Given the description of an element on the screen output the (x, y) to click on. 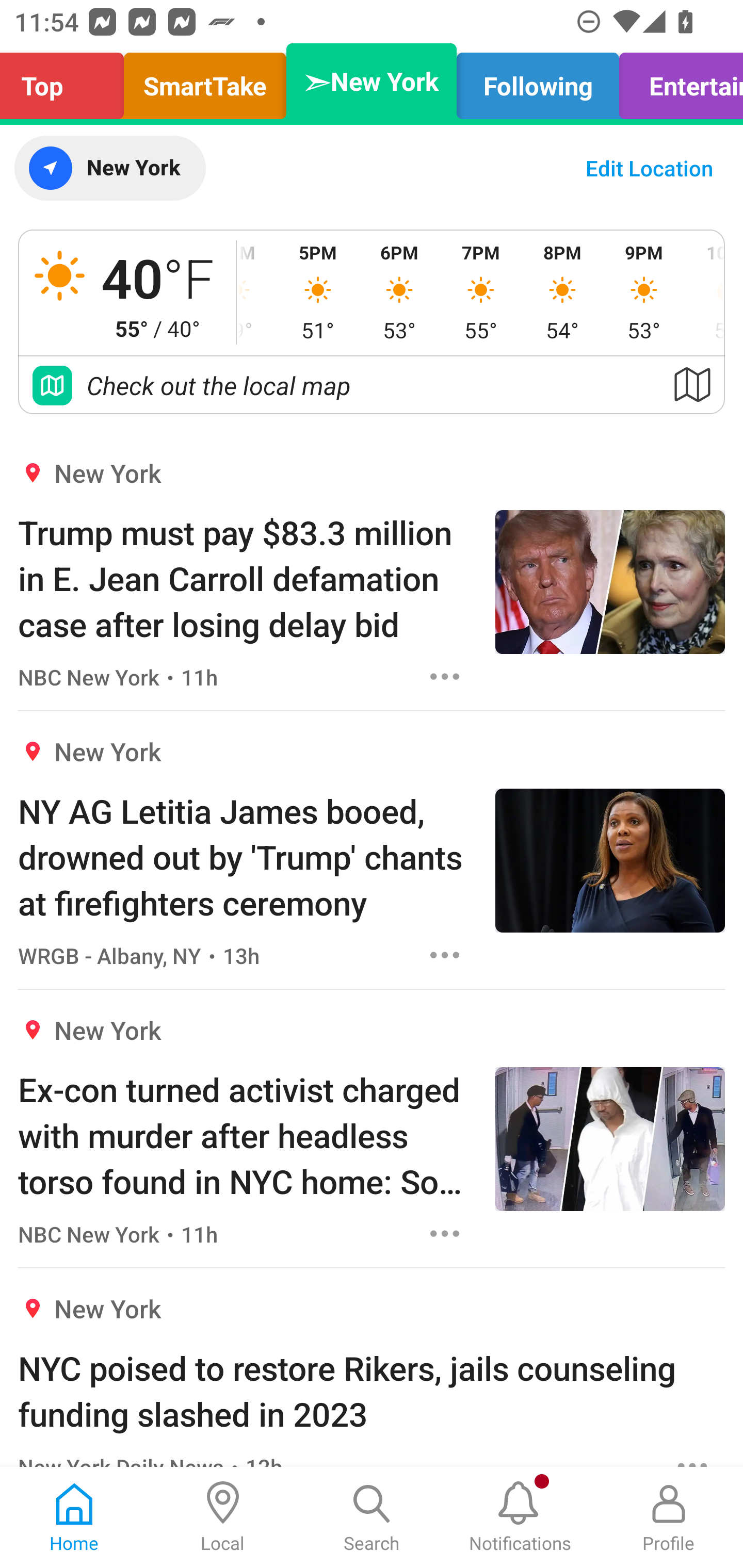
Top (67, 81)
SmartTake (204, 81)
➣New York (371, 81)
Following (537, 81)
New York (109, 168)
Edit Location (648, 168)
4PM 49° (257, 291)
5PM 51° (317, 291)
6PM 53° (398, 291)
7PM 55° (480, 291)
8PM 54° (562, 291)
9PM 53° (644, 291)
Check out the local map (371, 384)
Options (444, 676)
Options (444, 954)
Options (444, 1233)
Local (222, 1517)
Search (371, 1517)
Notifications, New notification Notifications (519, 1517)
Profile (668, 1517)
